Given the description of an element on the screen output the (x, y) to click on. 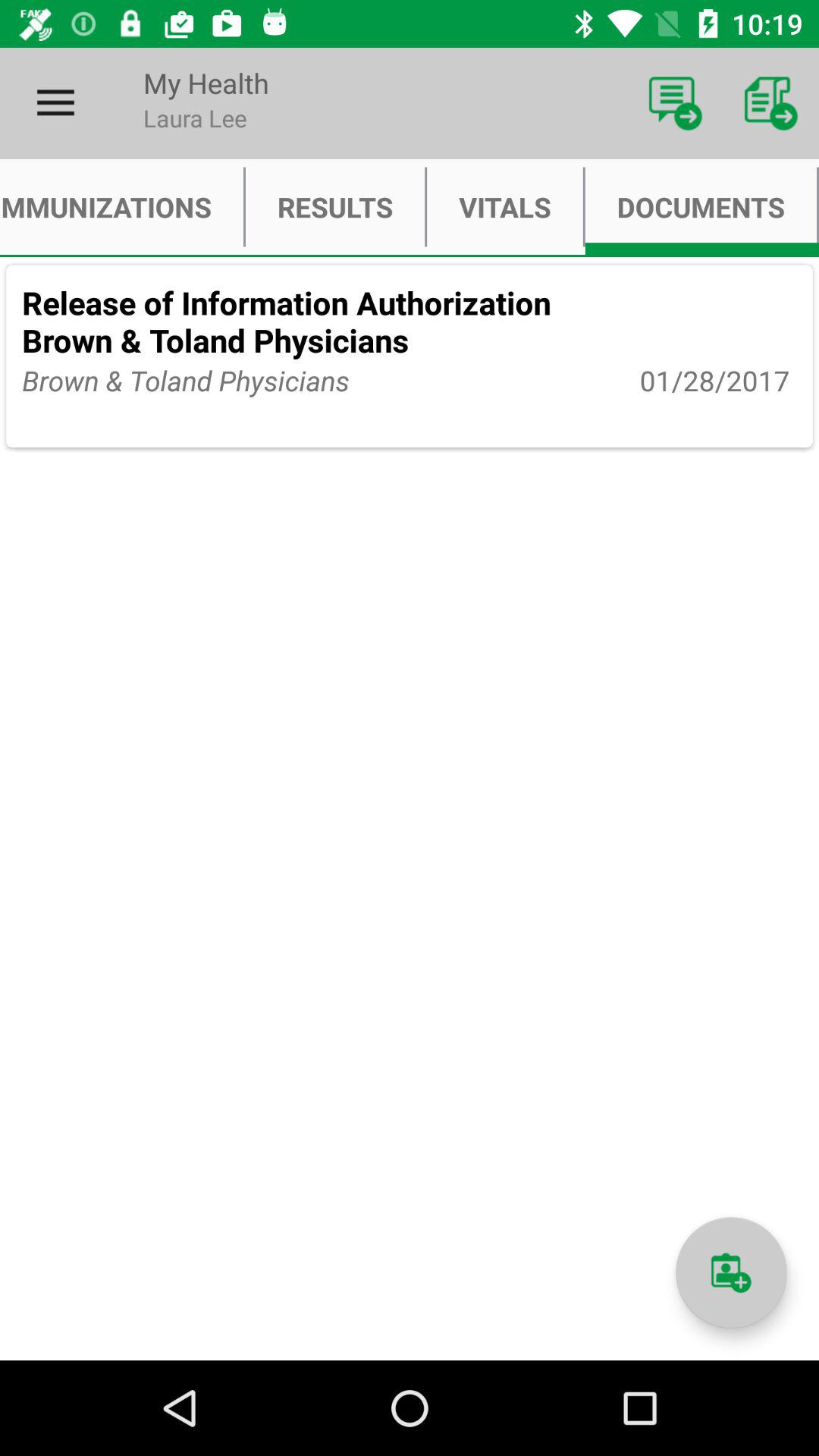
select item above the documents icon (675, 103)
